Given the description of an element on the screen output the (x, y) to click on. 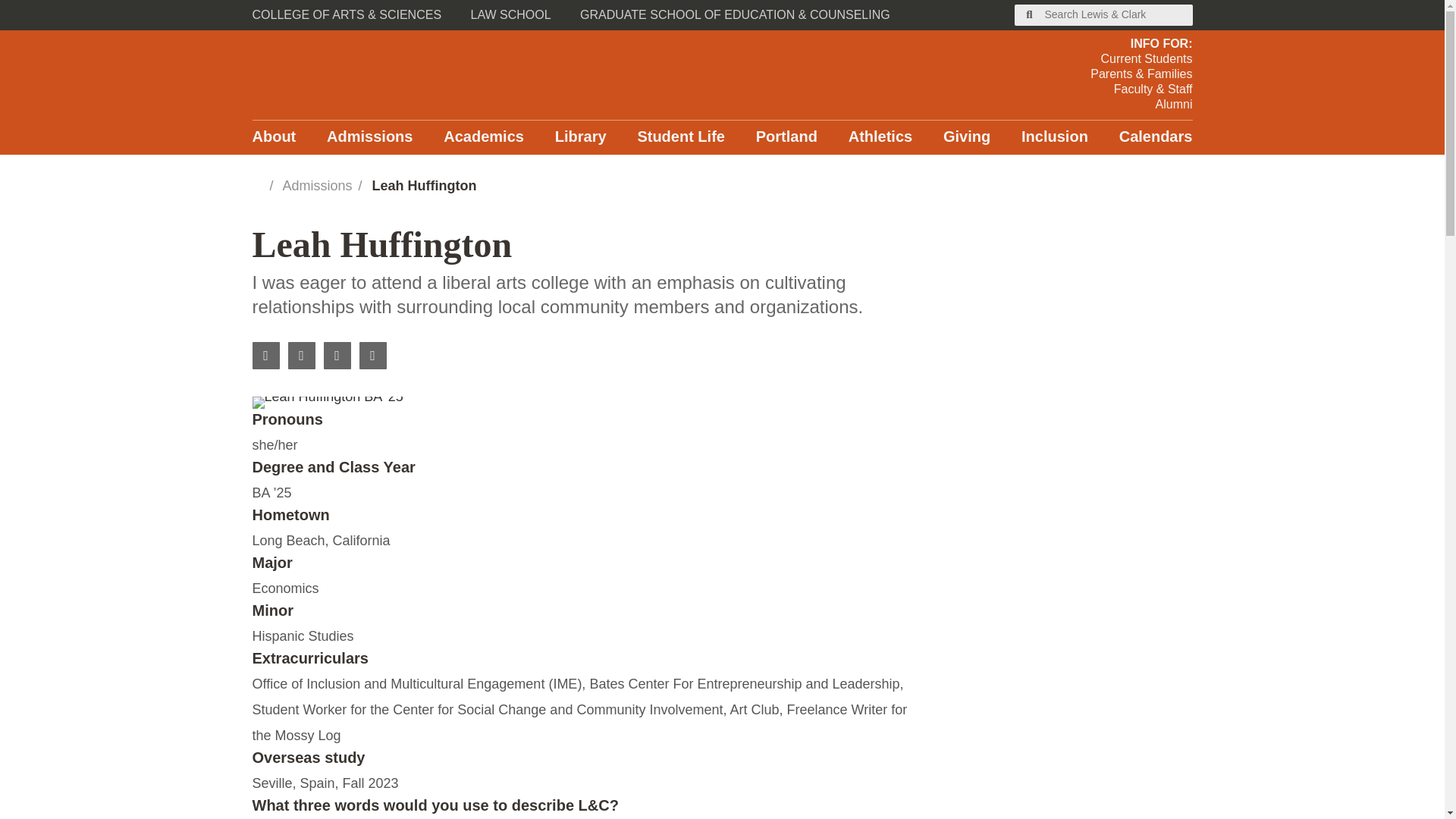
Inclusion (1054, 137)
Admissions (369, 137)
Submit Search (1029, 14)
Library (580, 137)
Share via email (373, 355)
Lewis and Clark (401, 74)
About (273, 137)
Current Students (1141, 58)
Giving (966, 137)
Calendars (1155, 137)
Share on Twitter (336, 355)
Athletics (880, 137)
Alumni (1141, 104)
Academics (484, 137)
Admissions (317, 185)
